Given the description of an element on the screen output the (x, y) to click on. 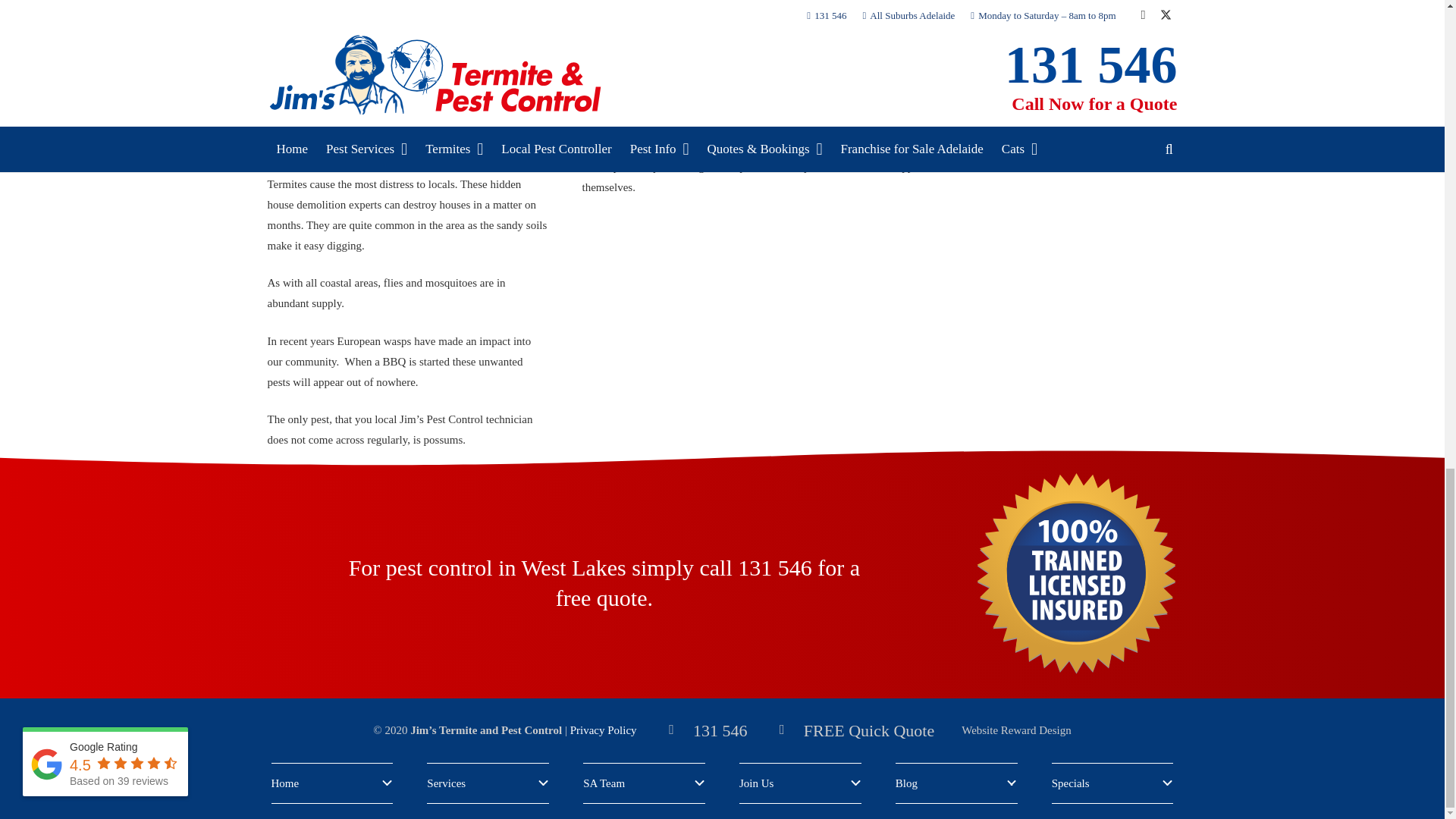
Specials (1112, 783)
Blog (956, 783)
Home (331, 783)
SA Team (643, 783)
Join Us (800, 783)
Services (487, 783)
